Given the description of an element on the screen output the (x, y) to click on. 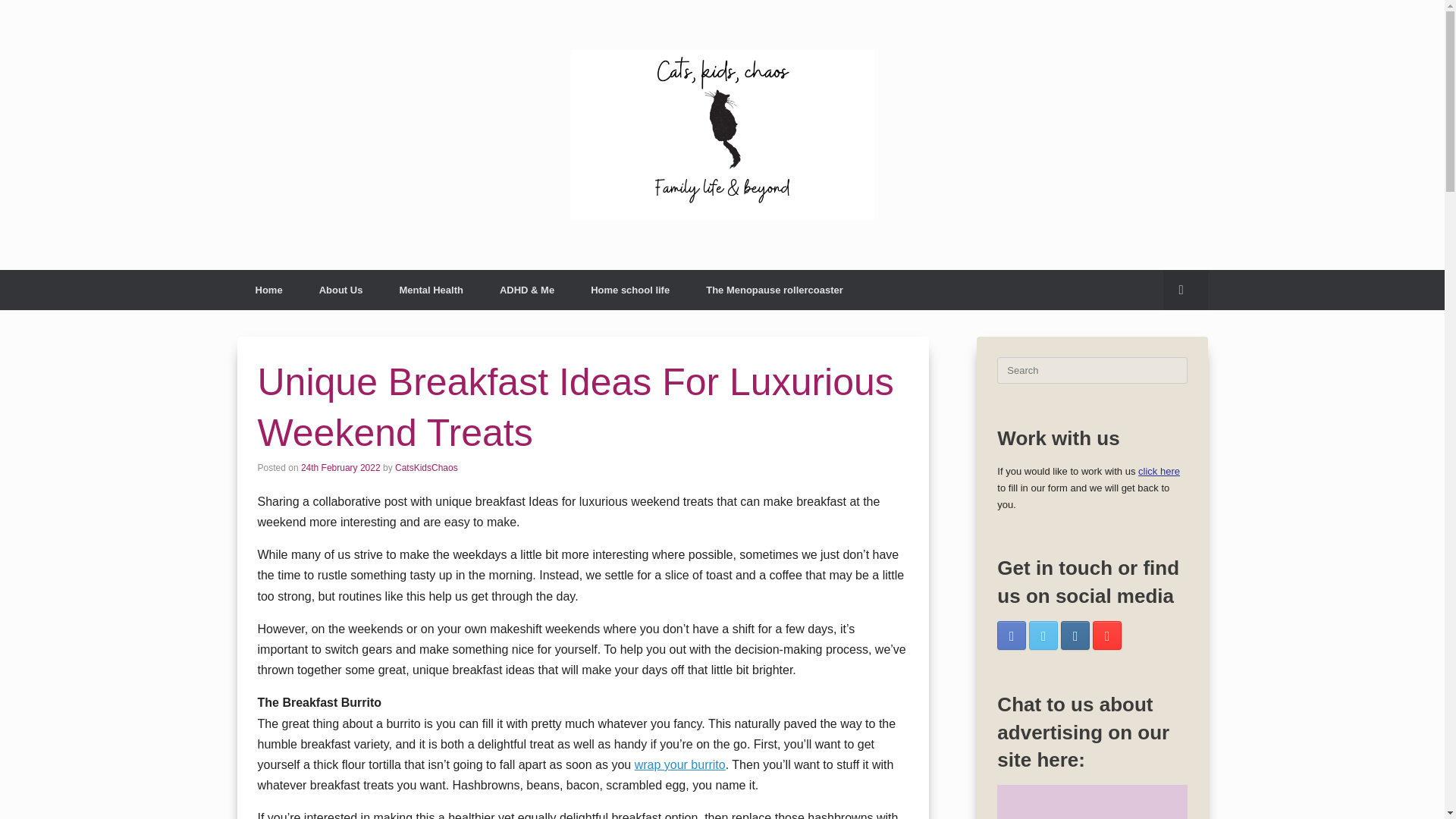
24th February 2022 (340, 467)
CatsKidsChaos Pinterest (1107, 635)
Mental Health (430, 290)
CatsKidsChaos Instagram (1075, 635)
Home school life (629, 290)
About Us (341, 290)
Home (267, 290)
click here (1158, 471)
The Menopause rollercoaster (774, 290)
CatsKidsChaos Facebook (1011, 635)
